Given the description of an element on the screen output the (x, y) to click on. 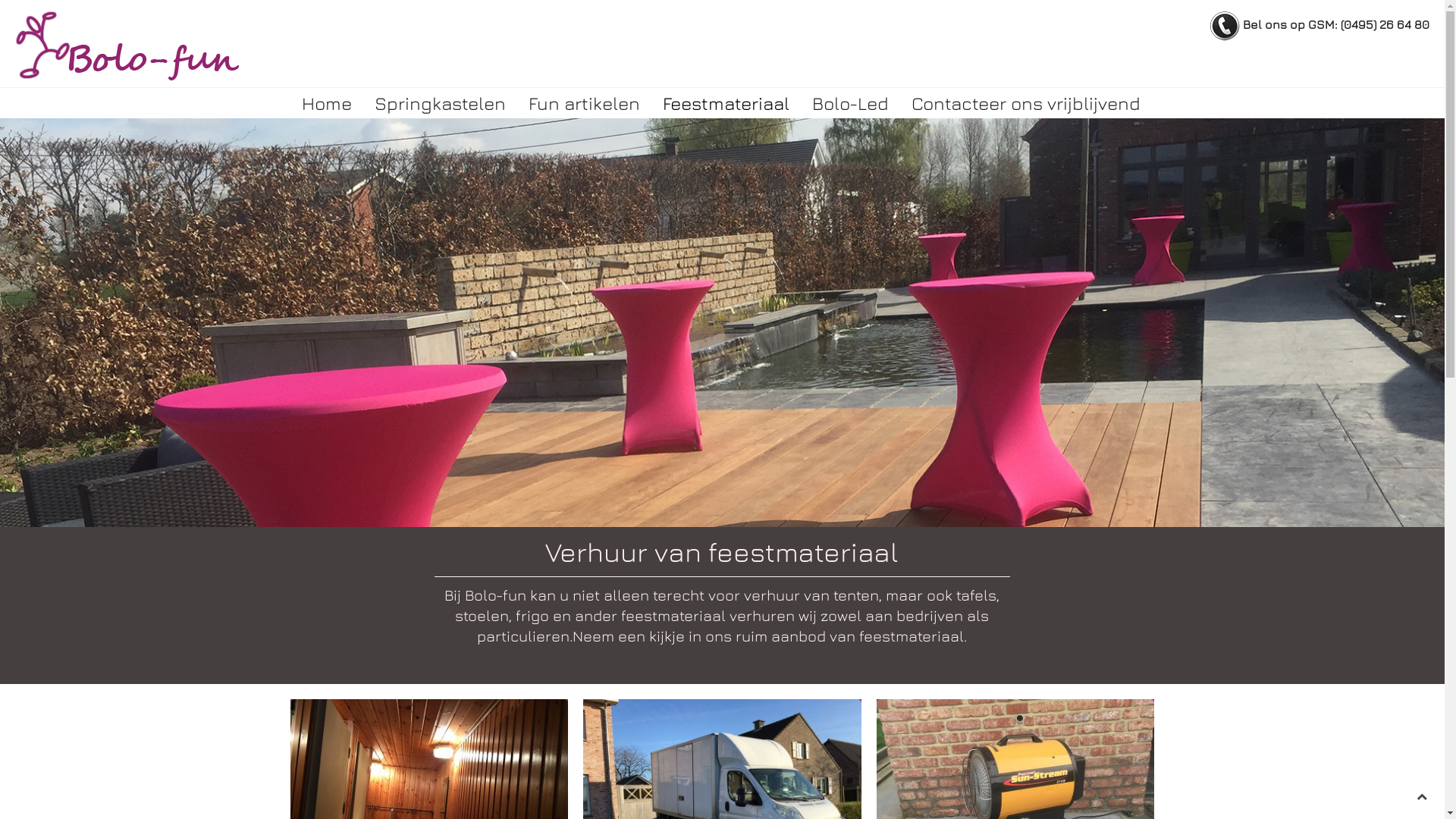
Contacteer ons vrijblijvend Element type: text (1025, 102)
Feestmateriaal Element type: text (725, 102)
Fun artikelen Element type: text (584, 102)
Bolo-Led Element type: text (850, 102)
Home Element type: text (325, 102)
Springkastelen Element type: text (439, 102)
